Given the description of an element on the screen output the (x, y) to click on. 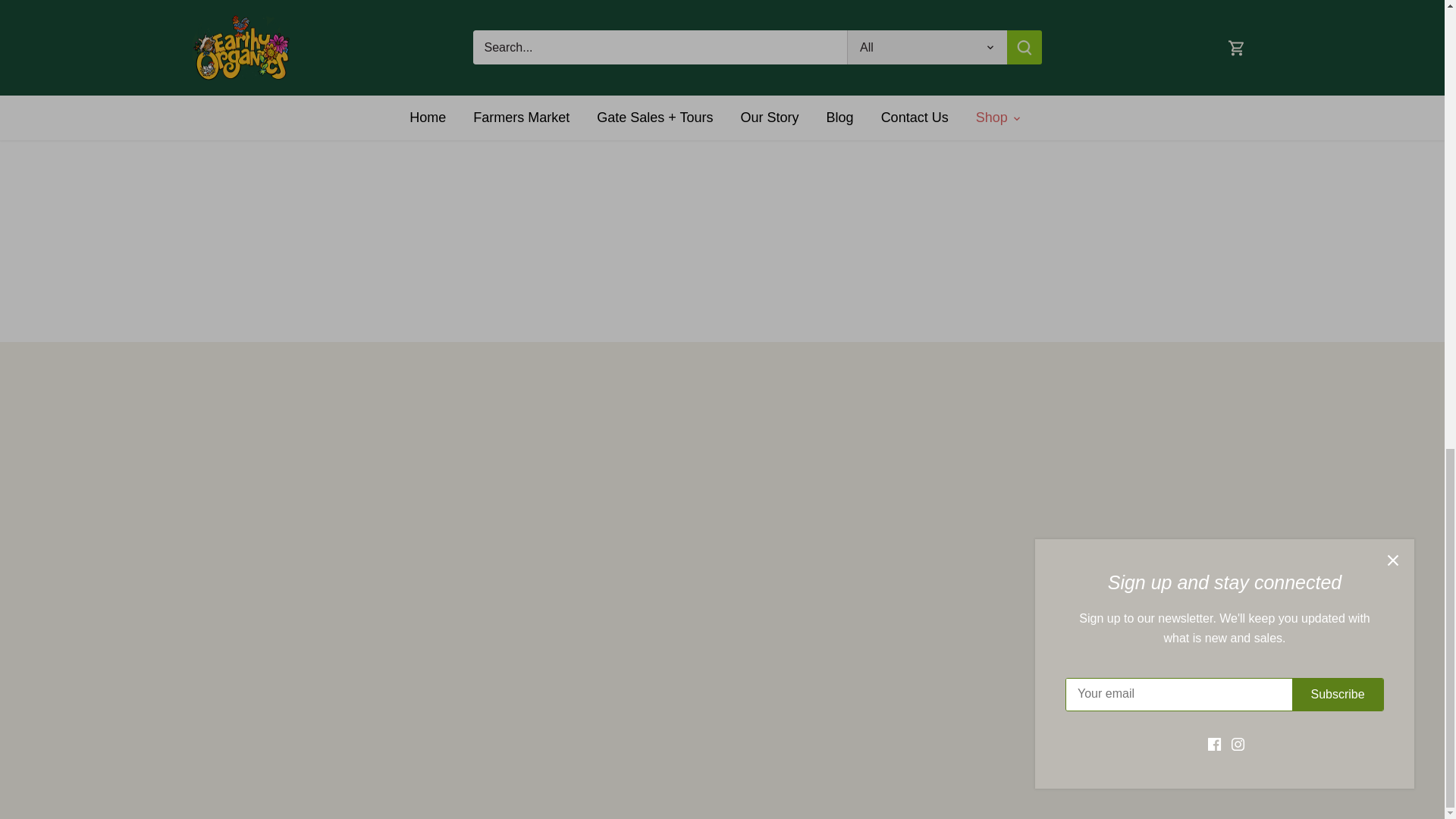
Subscribe (456, 445)
